Given the description of an element on the screen output the (x, y) to click on. 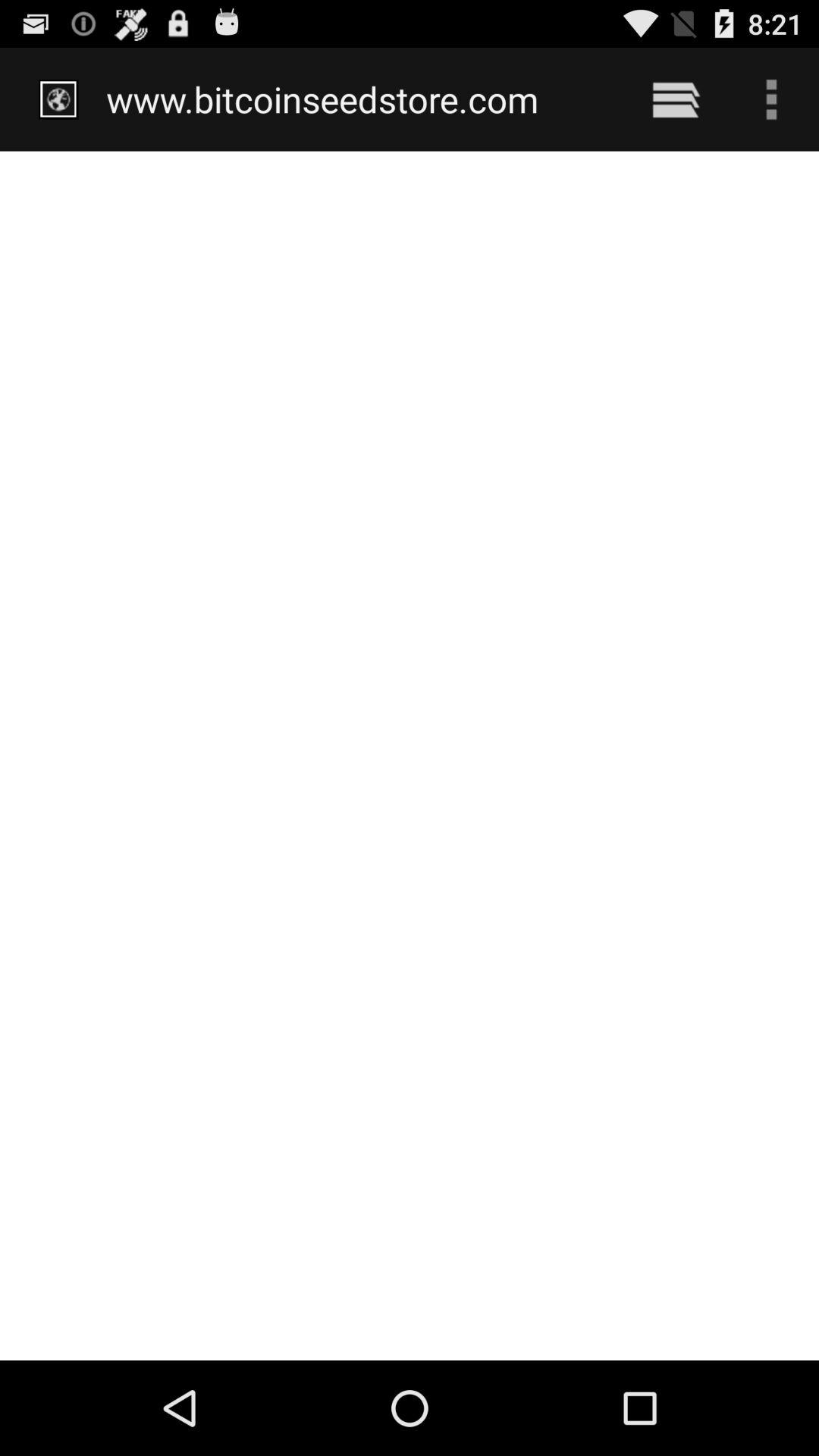
turn on item next to www.bitcoinseedstore.com icon (675, 99)
